Given the description of an element on the screen output the (x, y) to click on. 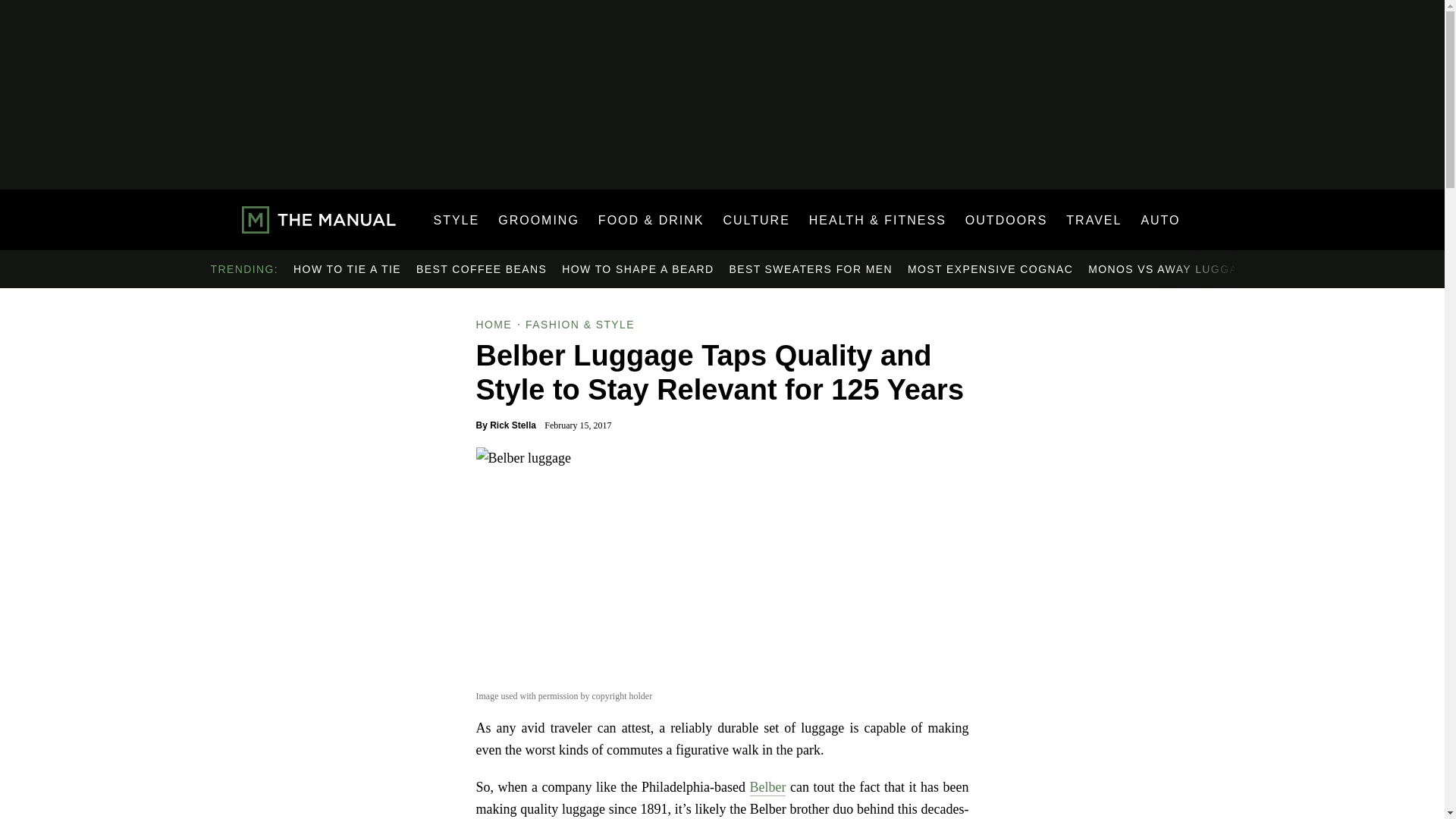
OUTDOORS (1005, 219)
TRAVEL (1093, 219)
CULTURE (755, 219)
GROOMING (538, 219)
